Given the description of an element on the screen output the (x, y) to click on. 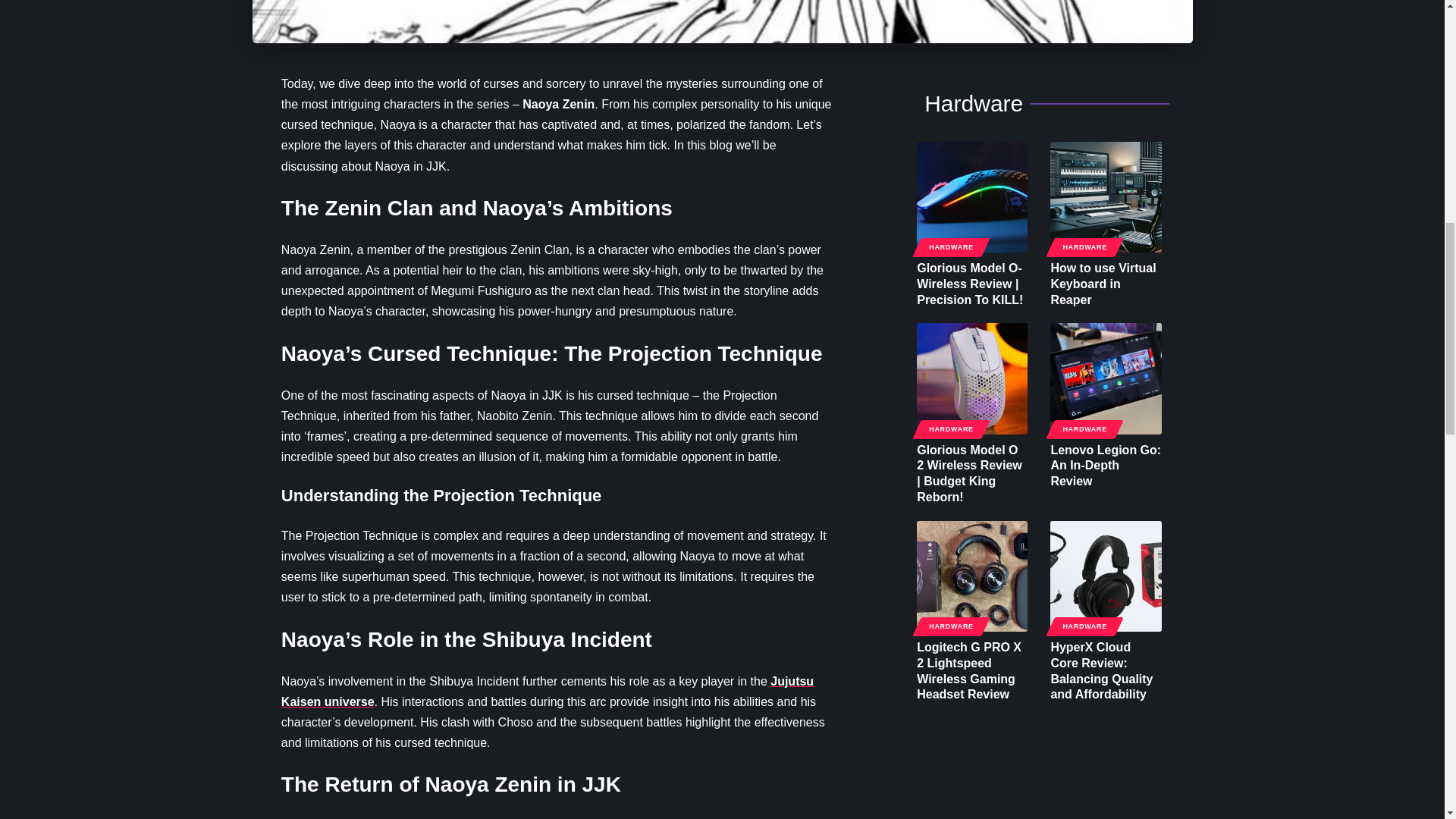
Jujutsu Kaisen universe (547, 691)
Logitech G PRO X 2 Lightspeed Wireless Gaming Headset Review (972, 575)
Lenovo Legion Go: An In-Depth Review (1104, 378)
How to use Virtual Keyboard in Reaper (1104, 196)
